Given the description of an element on the screen output the (x, y) to click on. 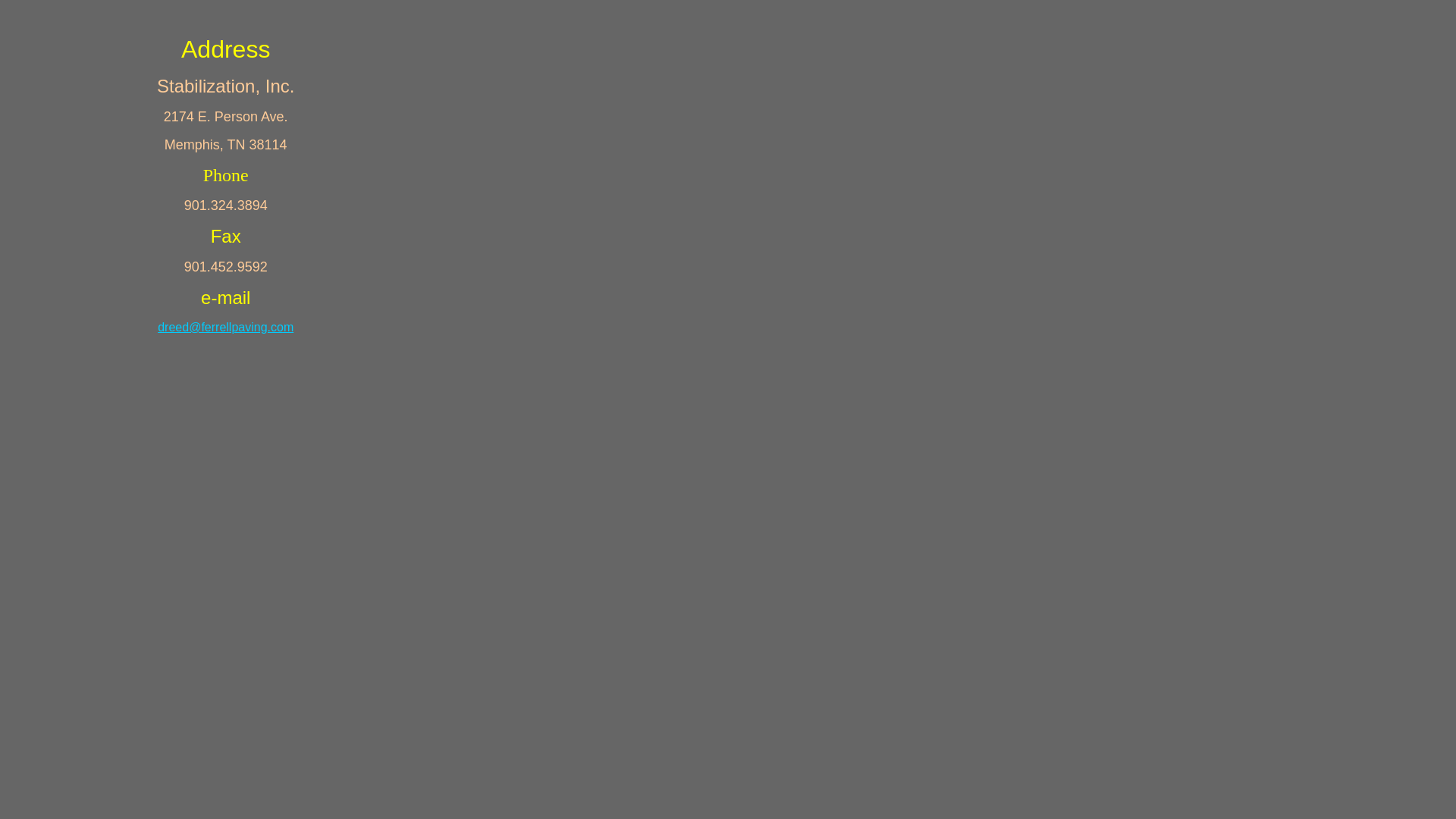
dreed@ferrellpaving.com Element type: text (225, 326)
